Given the description of an element on the screen output the (x, y) to click on. 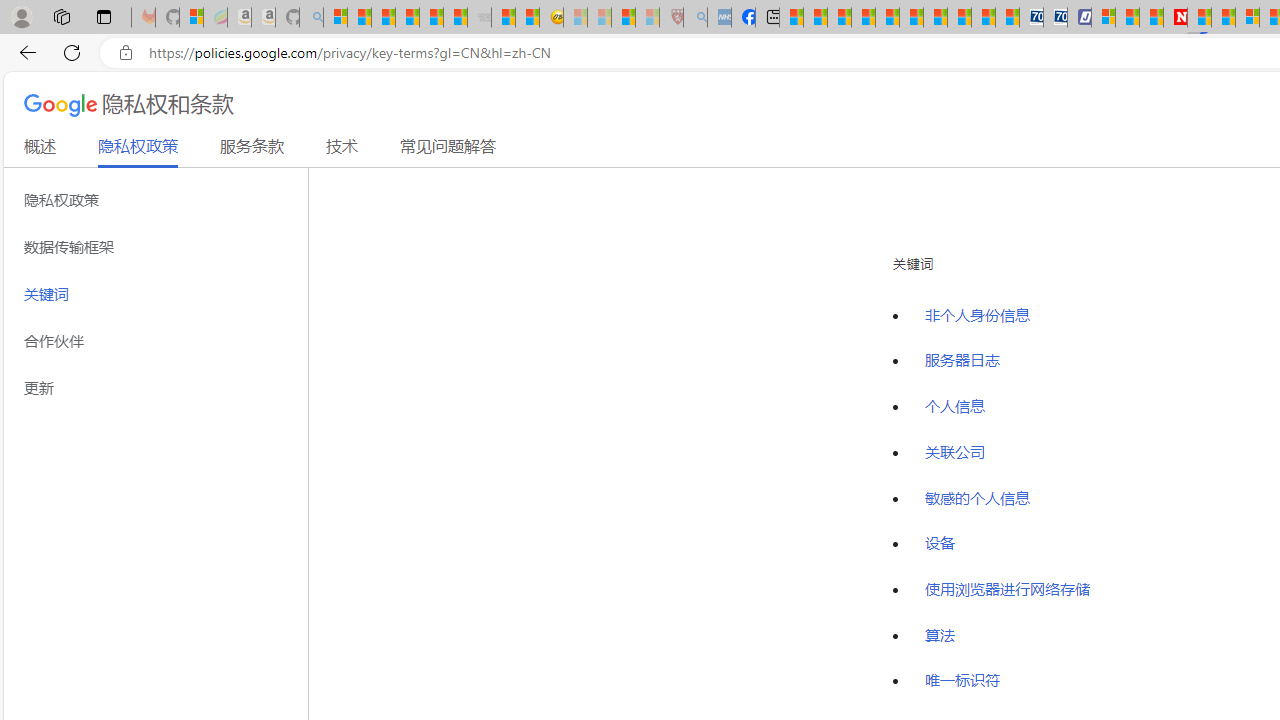
Combat Siege - Sleeping (479, 17)
